Given the description of an element on the screen output the (x, y) to click on. 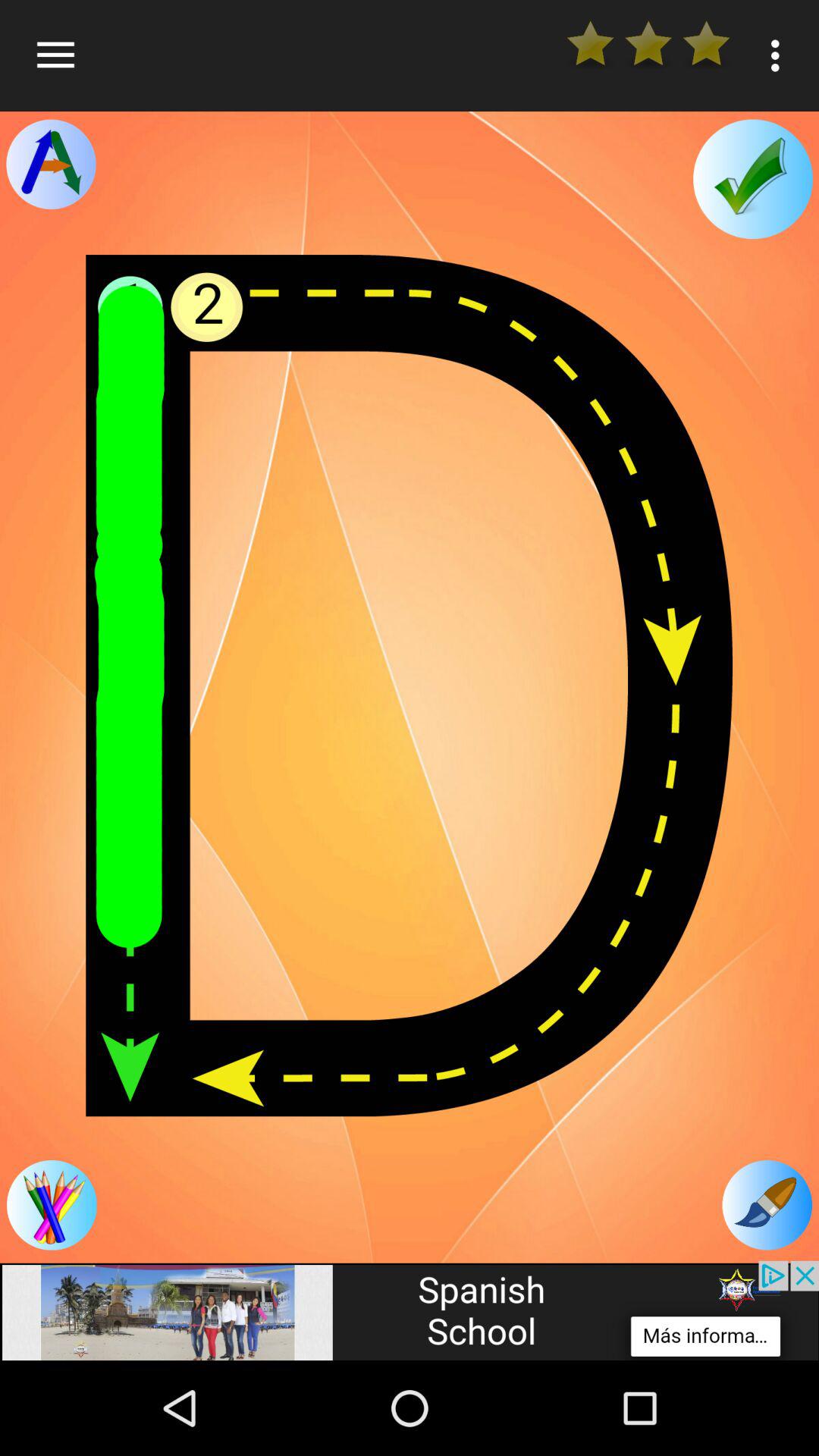
app body (409, 685)
